Given the description of an element on the screen output the (x, y) to click on. 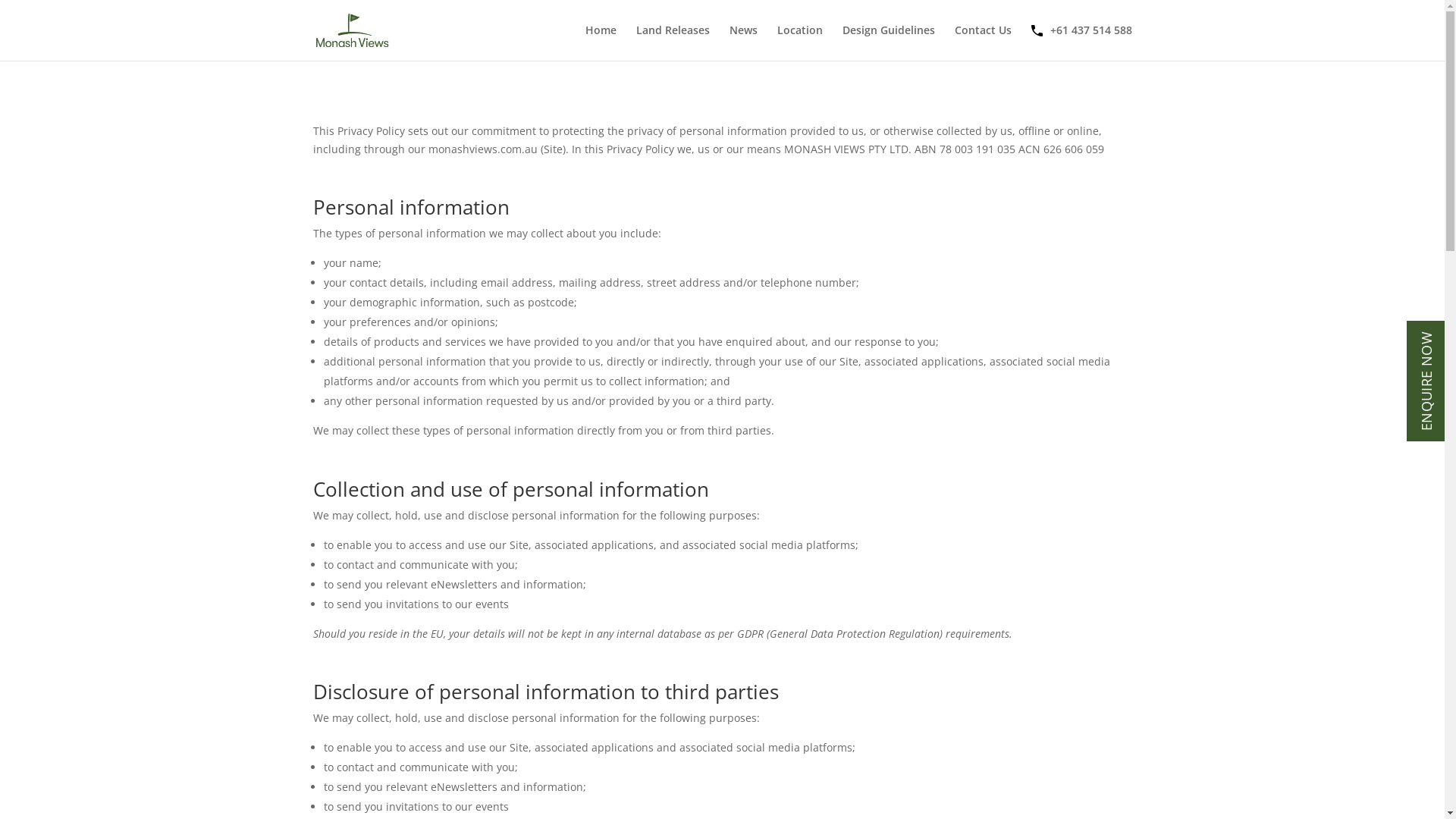
Design Guidelines Element type: text (887, 42)
+61 437 514 588 Element type: text (1082, 42)
Contact Us Element type: text (981, 42)
Location Element type: text (799, 42)
Home Element type: text (600, 42)
Land Releases Element type: text (672, 42)
News Element type: text (743, 42)
